Given the description of an element on the screen output the (x, y) to click on. 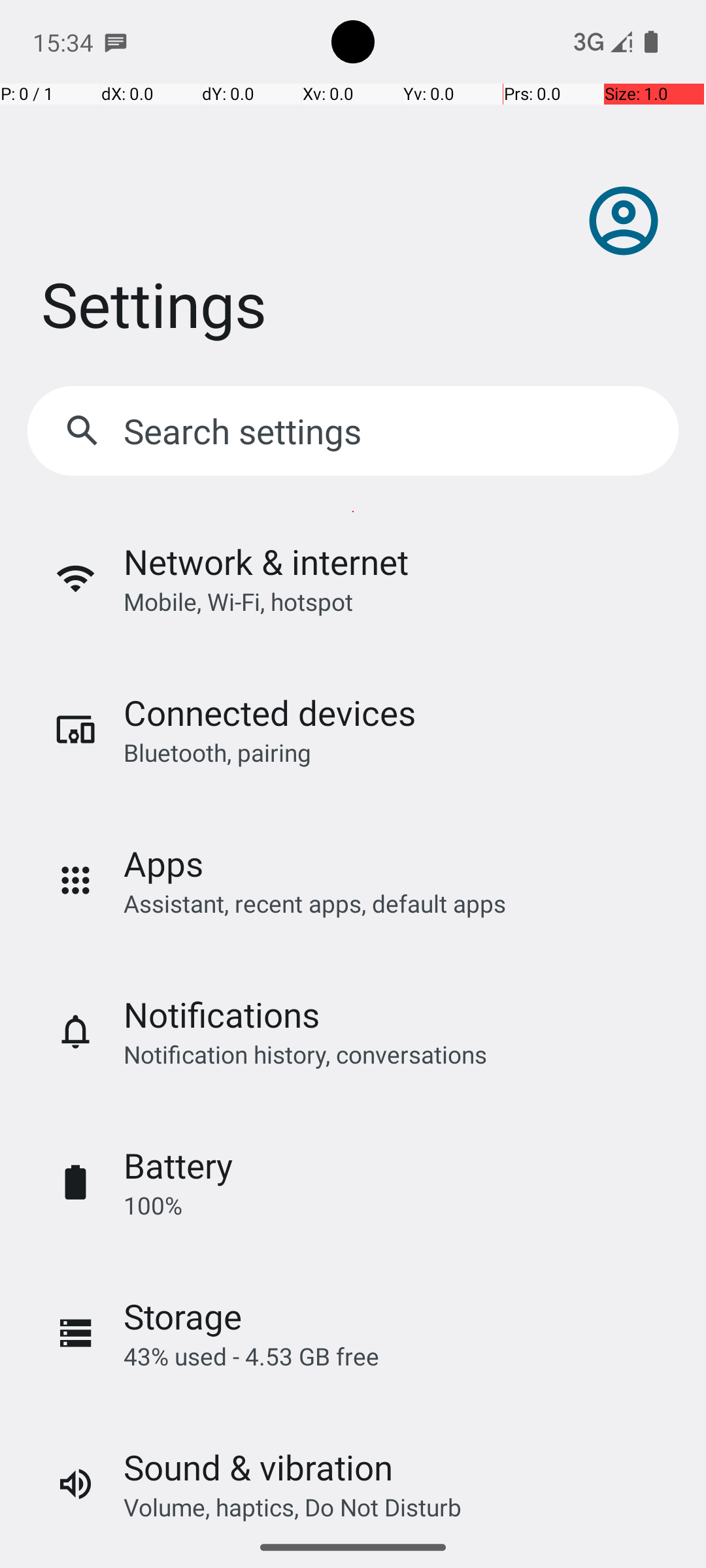
43% used - 4.53 GB free Element type: android.widget.TextView (251, 1355)
